Given the description of an element on the screen output the (x, y) to click on. 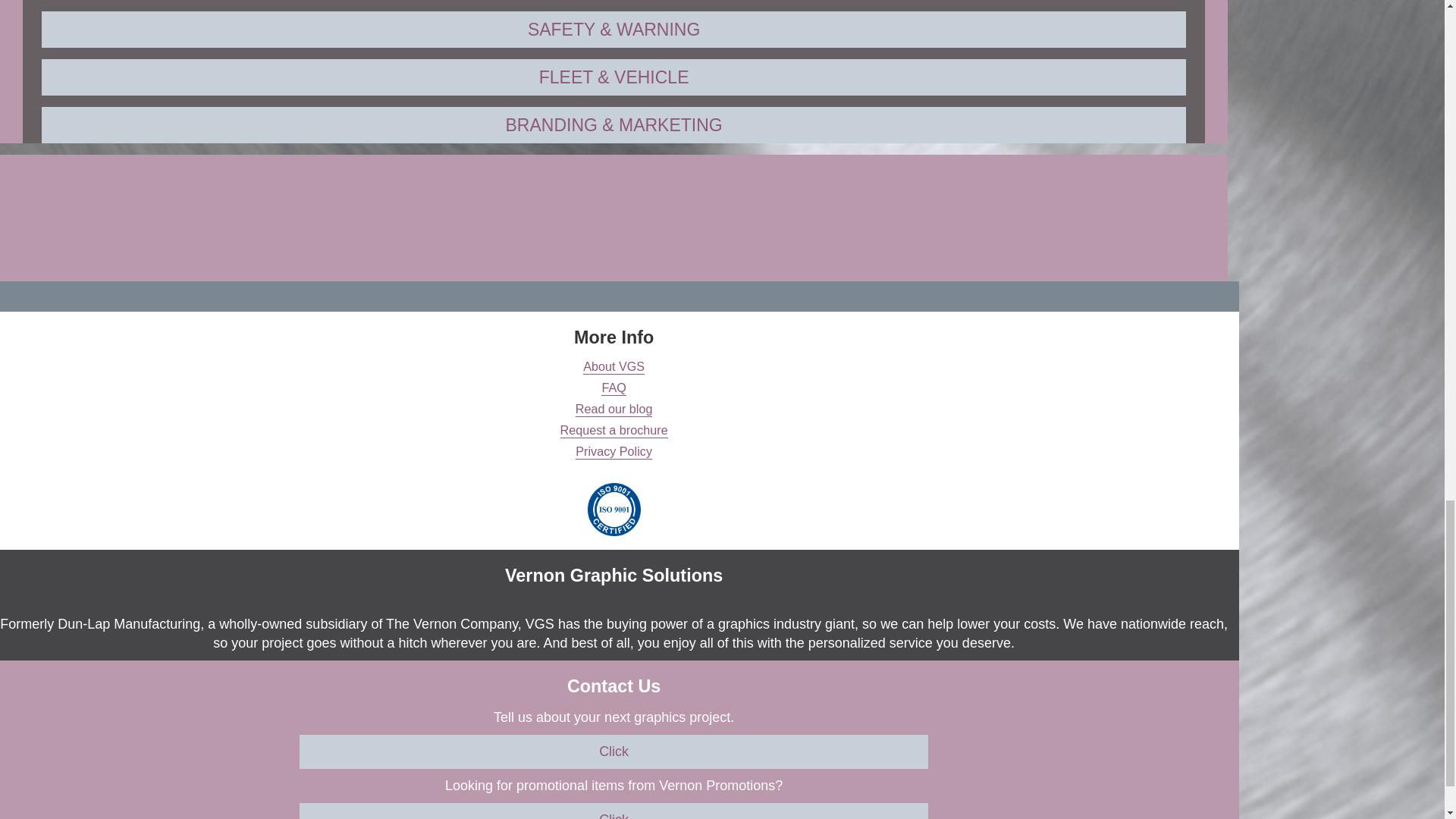
Read our blog (613, 409)
Privacy Policy (613, 452)
Click (613, 751)
FAQ (613, 388)
About VGS (614, 367)
Request a brochure (614, 431)
